Given the description of an element on the screen output the (x, y) to click on. 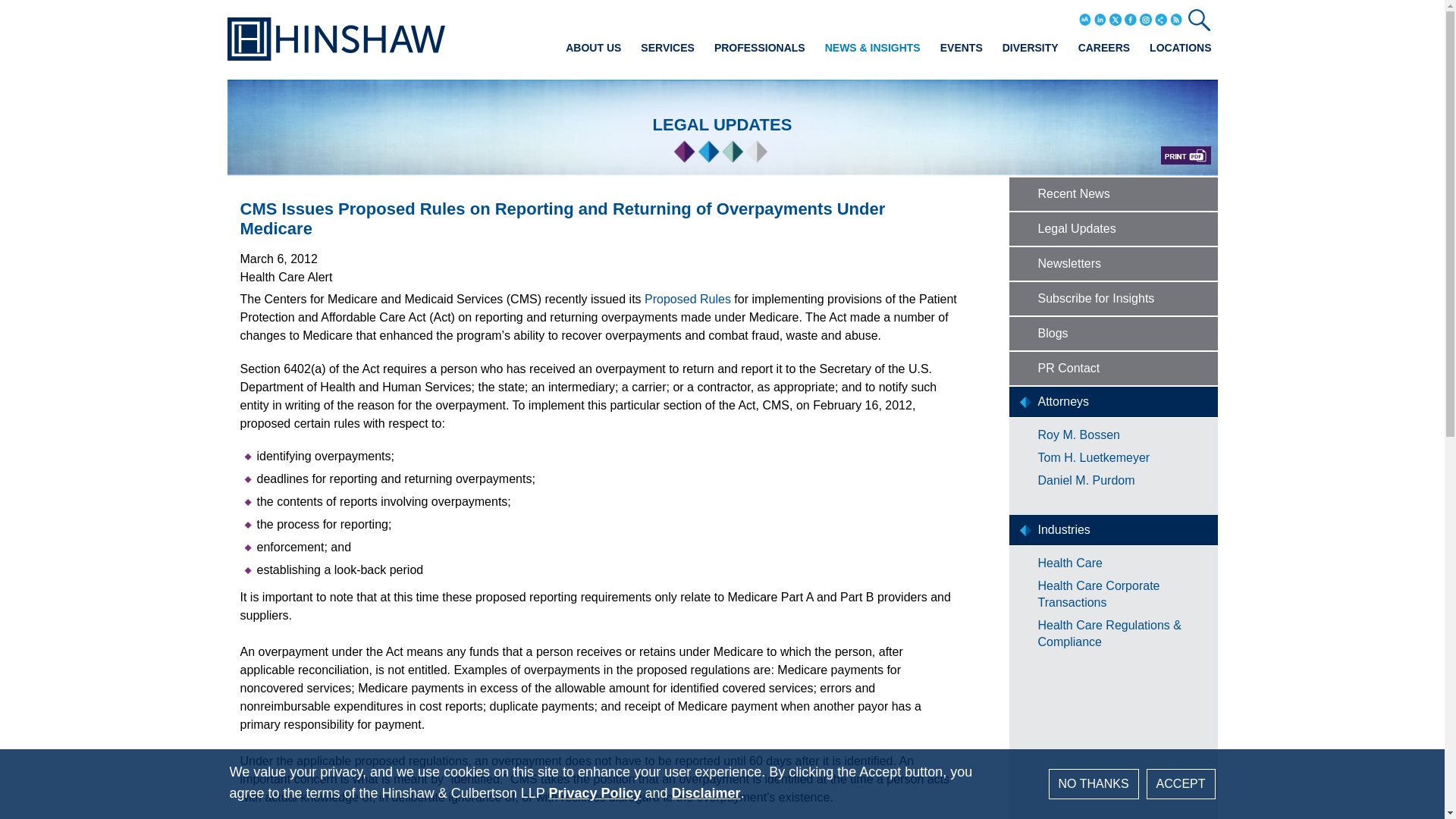
Menu (680, 16)
Main Content (674, 16)
SERVICES (667, 47)
ABOUT US (593, 47)
PROFESSIONALS (759, 47)
Main Menu (680, 16)
